Given the description of an element on the screen output the (x, y) to click on. 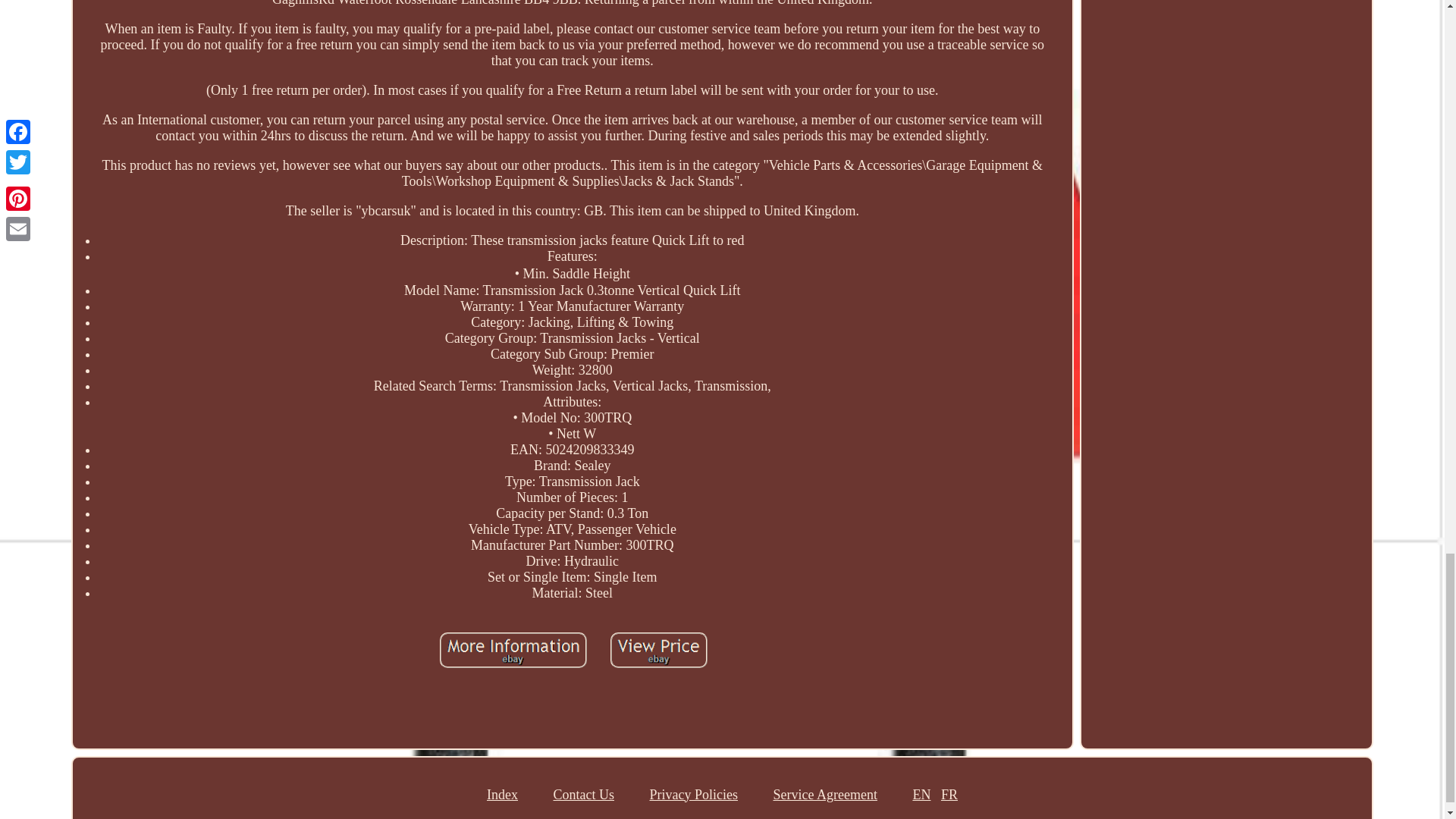
300TRQ Sealey Transmission Jack 0.3tonne Vertical Quick Lift (512, 649)
300trq Sealey Transmission Jack 0.3tonne Vertical Quick Lift (659, 651)
300trq Sealey Transmission Jack 0.3tonne Vertical Quick Lift (512, 651)
